Given the description of an element on the screen output the (x, y) to click on. 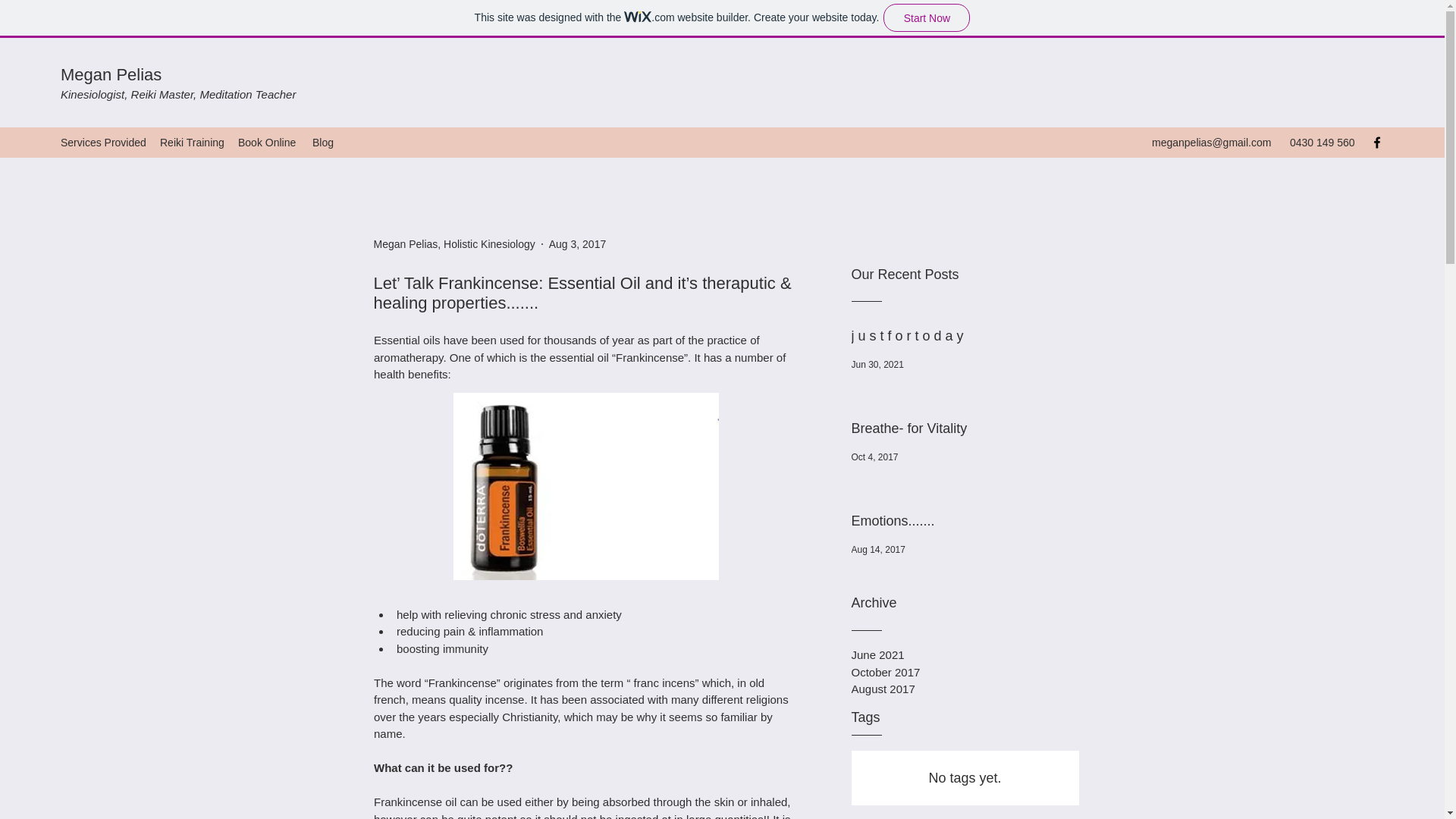
j u s t f o r t o d a y (958, 339)
Breathe- for Vitality (958, 431)
October 2017 (964, 672)
Aug 14, 2017 (877, 549)
August 2017 (964, 689)
Book Online (267, 142)
Aug 3, 2017 (577, 244)
Oct 4, 2017 (874, 457)
Megan Pelias, Holistic Kinesiology (453, 244)
Megan Pelias, Holistic Kinesiology (453, 244)
